Given the description of an element on the screen output the (x, y) to click on. 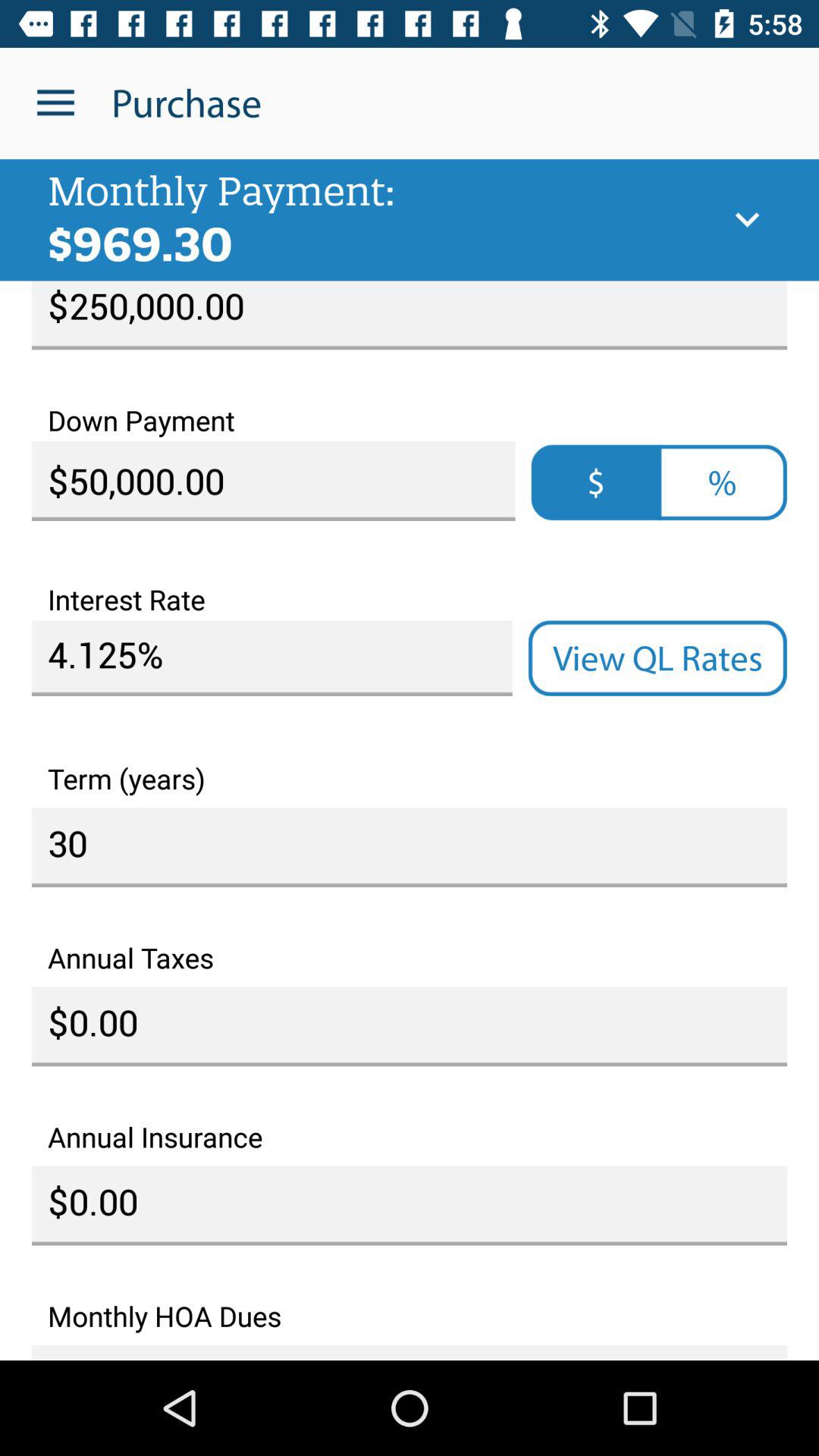
click item on the right (657, 658)
